Given the description of an element on the screen output the (x, y) to click on. 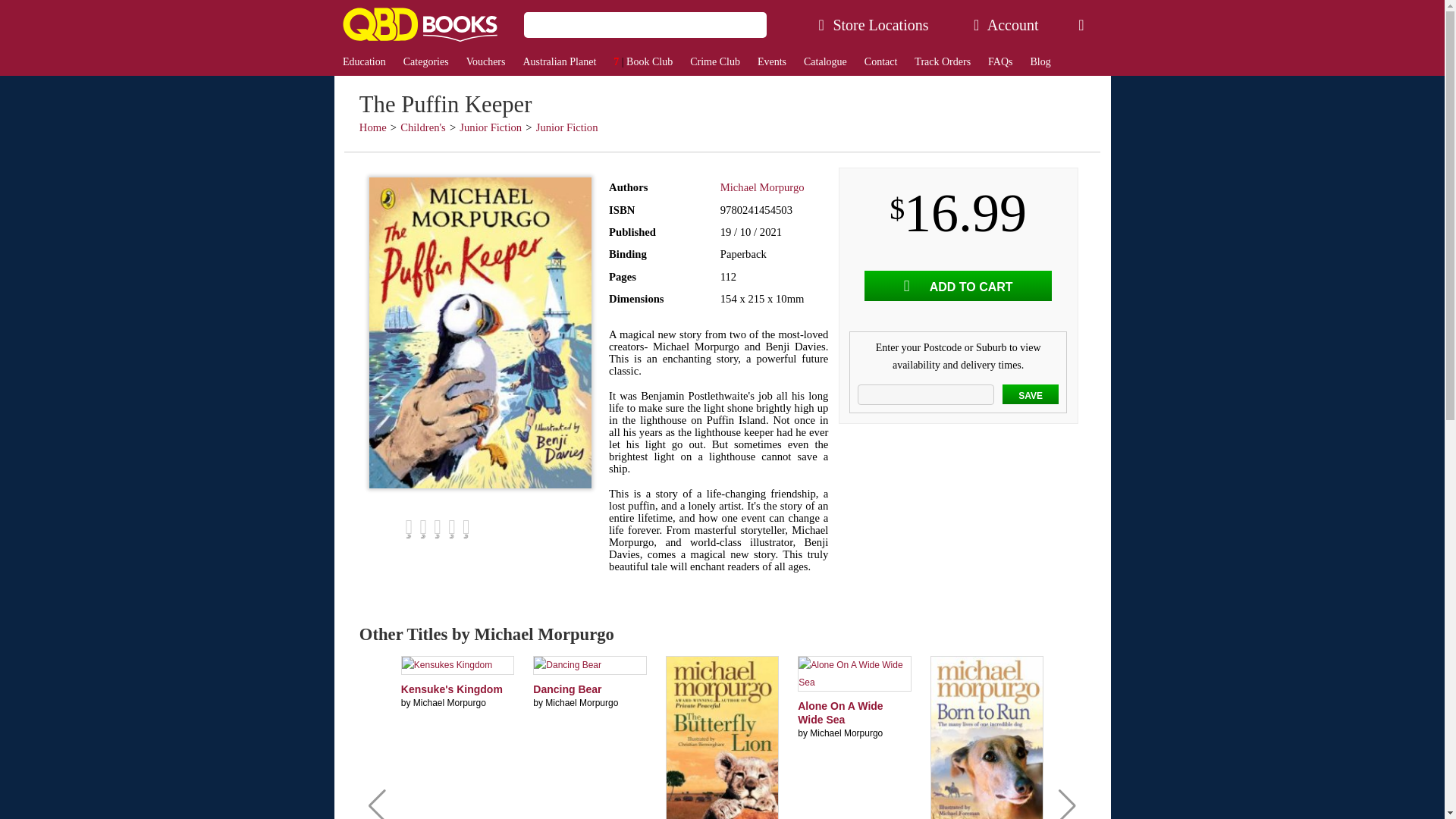
Alone On A Wide Wide Sea (839, 712)
Account (1006, 24)
QBD Books (418, 23)
Categories (425, 62)
Dancing Bear (566, 689)
Education (363, 62)
Store Locations (873, 24)
Kensukes Kingdom (451, 689)
